Given the description of an element on the screen output the (x, y) to click on. 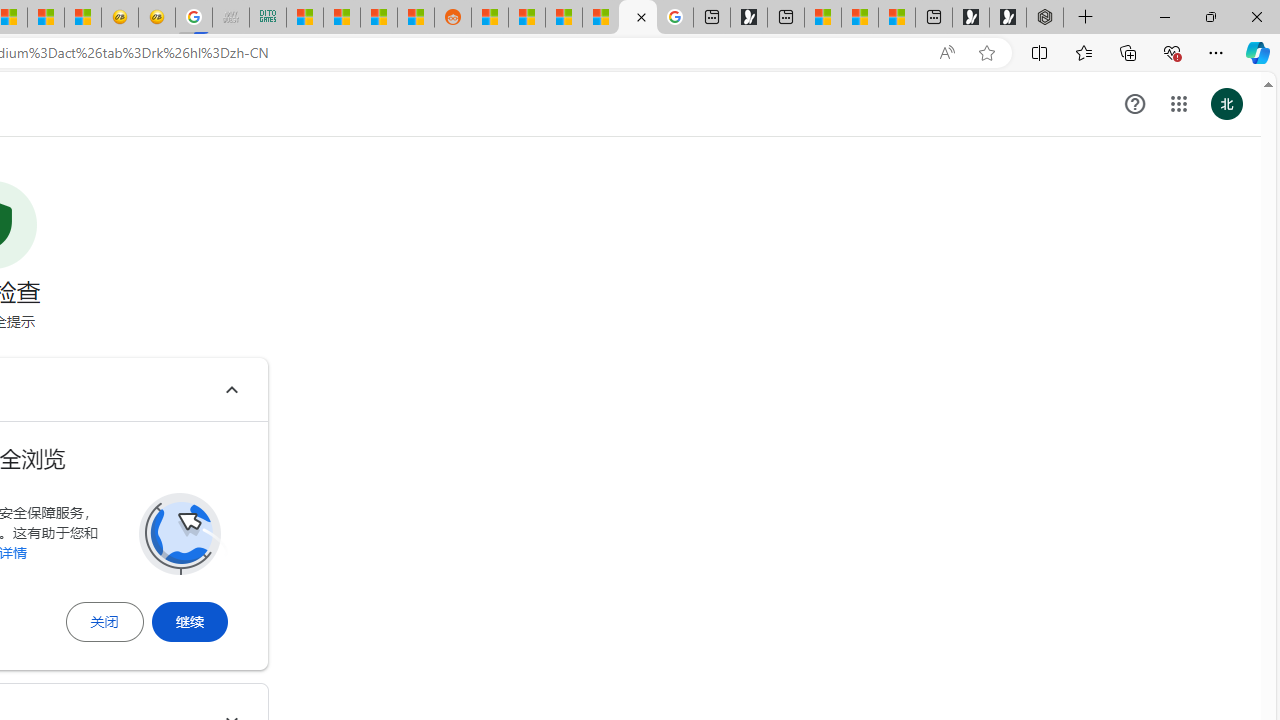
DITOGAMES AG Imprint (267, 17)
R******* | Trusted Community Engagement and Contributions (490, 17)
